Given the description of an element on the screen output the (x, y) to click on. 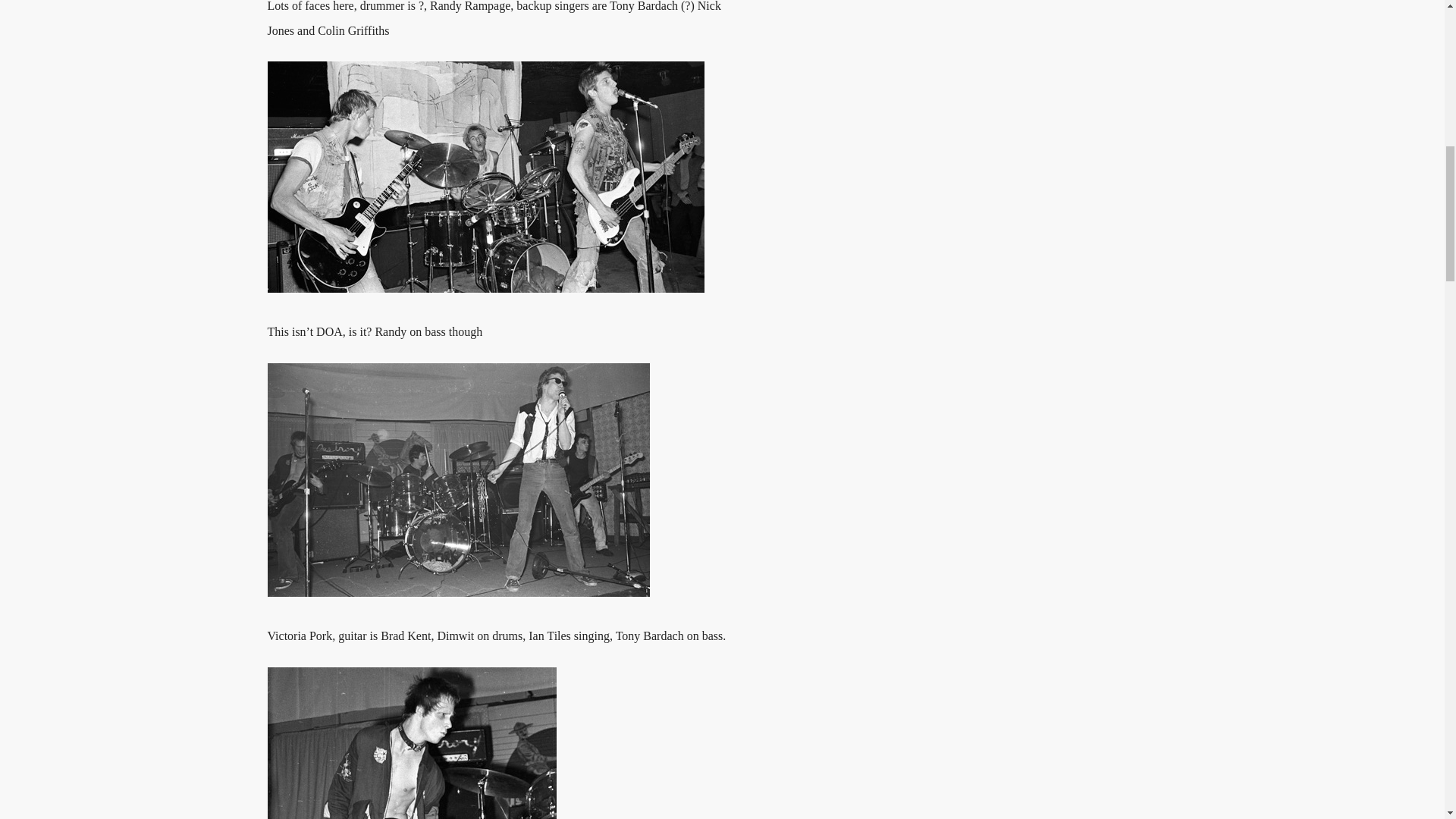
webdoa1a (484, 176)
webpork1 (457, 480)
webpork2 (411, 743)
